Given the description of an element on the screen output the (x, y) to click on. 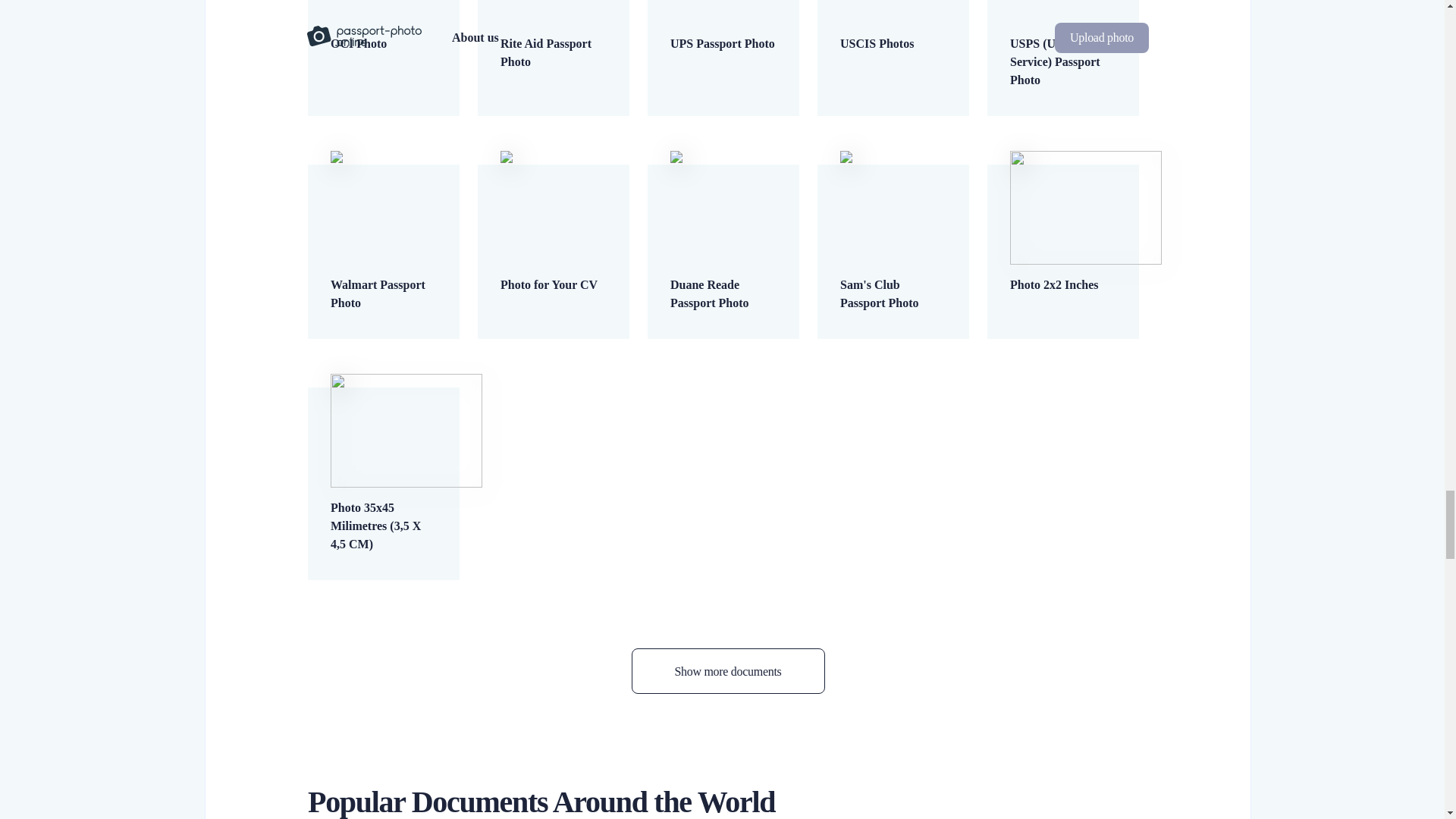
Walmart Passport Photo (383, 266)
USCIS Photos (893, 26)
UPS Passport Photo (722, 26)
Rite Aid Passport Photo (553, 35)
Photo for Your CV (553, 257)
OCI Photo (383, 26)
